Given the description of an element on the screen output the (x, y) to click on. 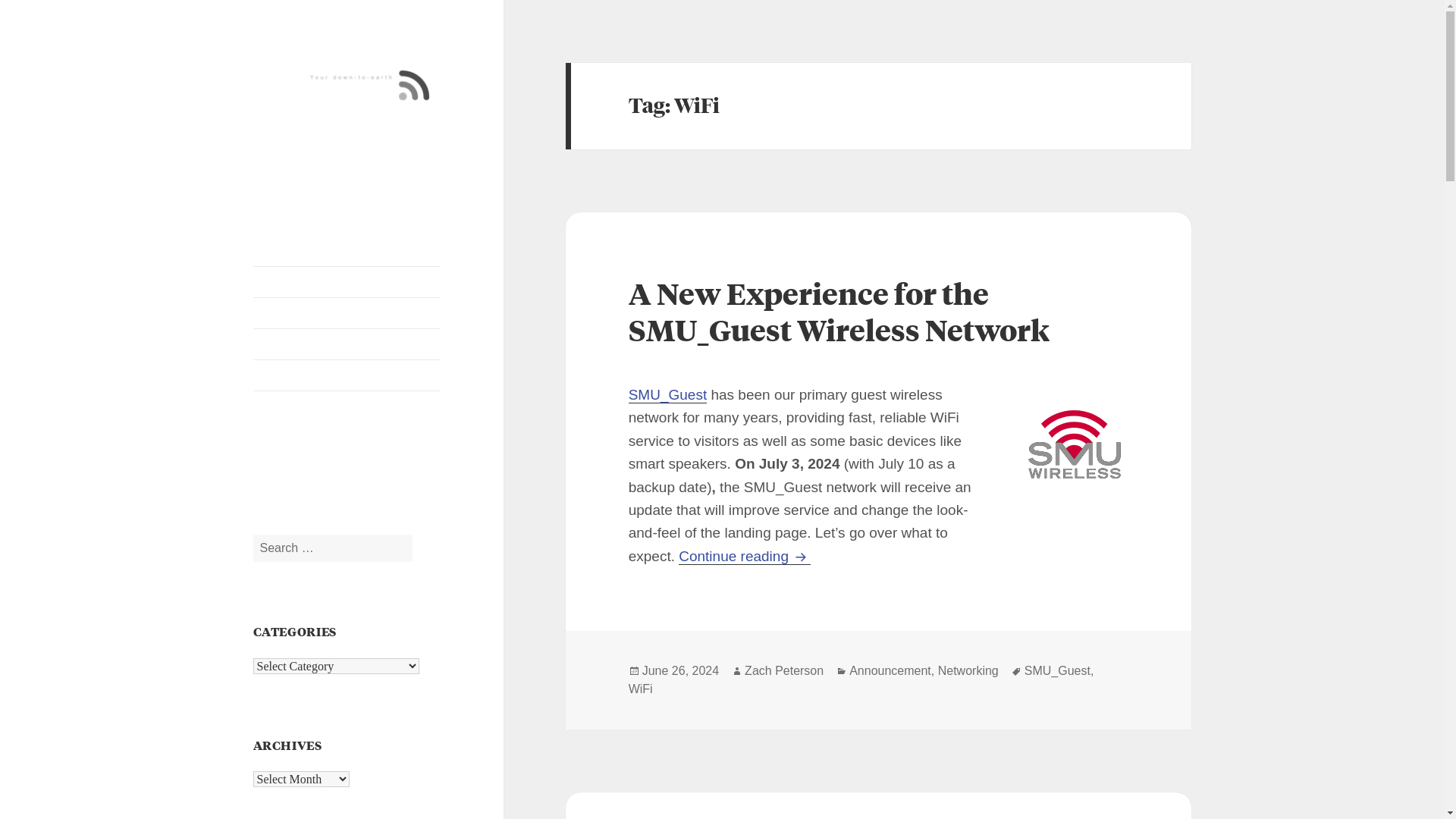
Announcement (889, 671)
Networking (967, 671)
IT Training (347, 344)
IT Training offered by OIT (347, 344)
Tech Tips (347, 313)
June 26, 2024 (680, 671)
Zach Peterson (784, 671)
IT Connect Homepage (347, 281)
OIT on Instagram (347, 471)
YouTube (307, 471)
OIT on Twitter (271, 471)
Office of Information Technology (347, 375)
